Given the description of an element on the screen output the (x, y) to click on. 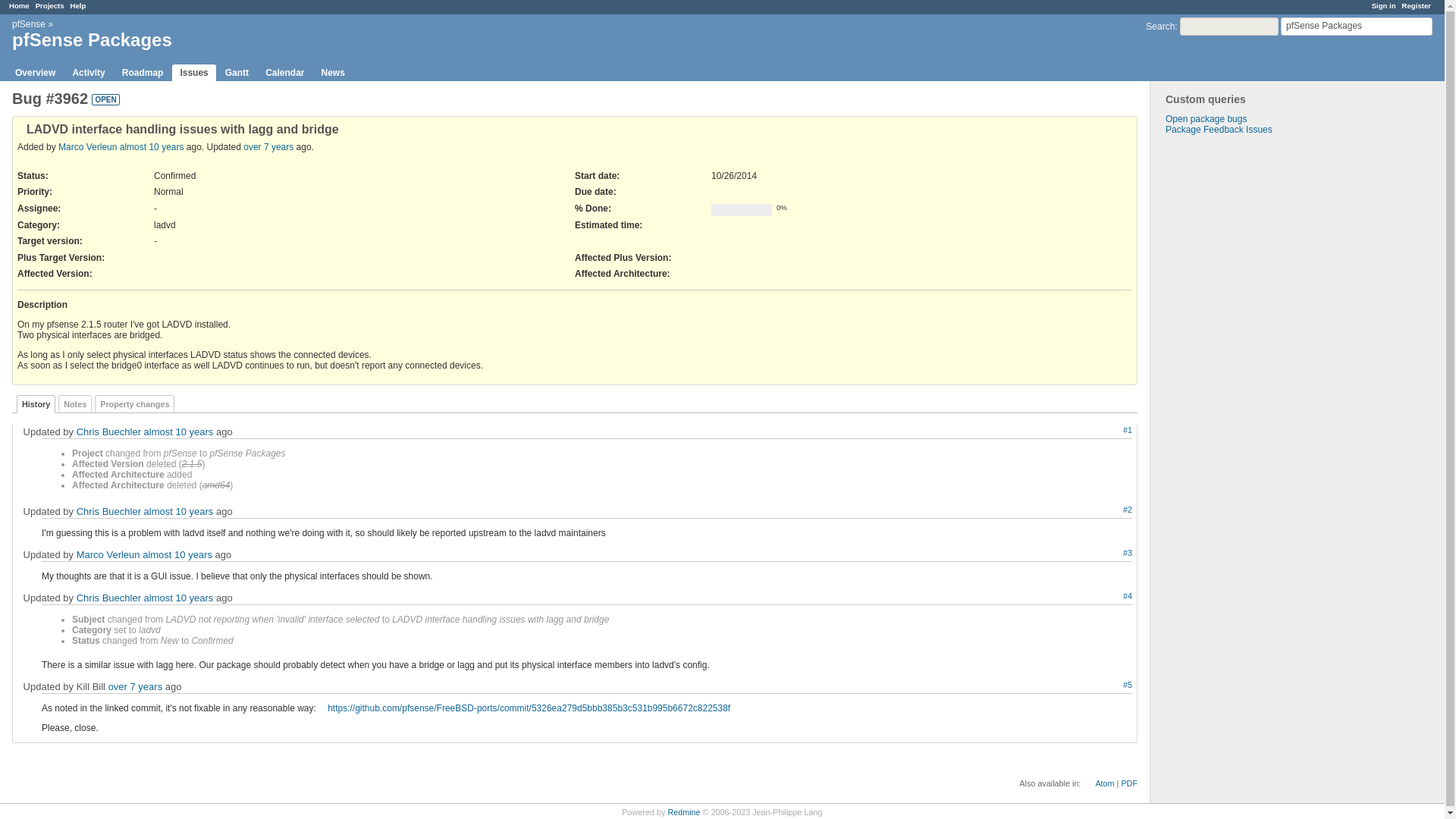
almost 10 years (179, 511)
Chris Buechler (109, 511)
Actions (1110, 553)
Open package bugs (1206, 118)
Marco Verleun (87, 146)
Home (18, 5)
Actions (1110, 685)
Projects (49, 5)
almost 10 years (179, 431)
Notes (74, 403)
